Given the description of an element on the screen output the (x, y) to click on. 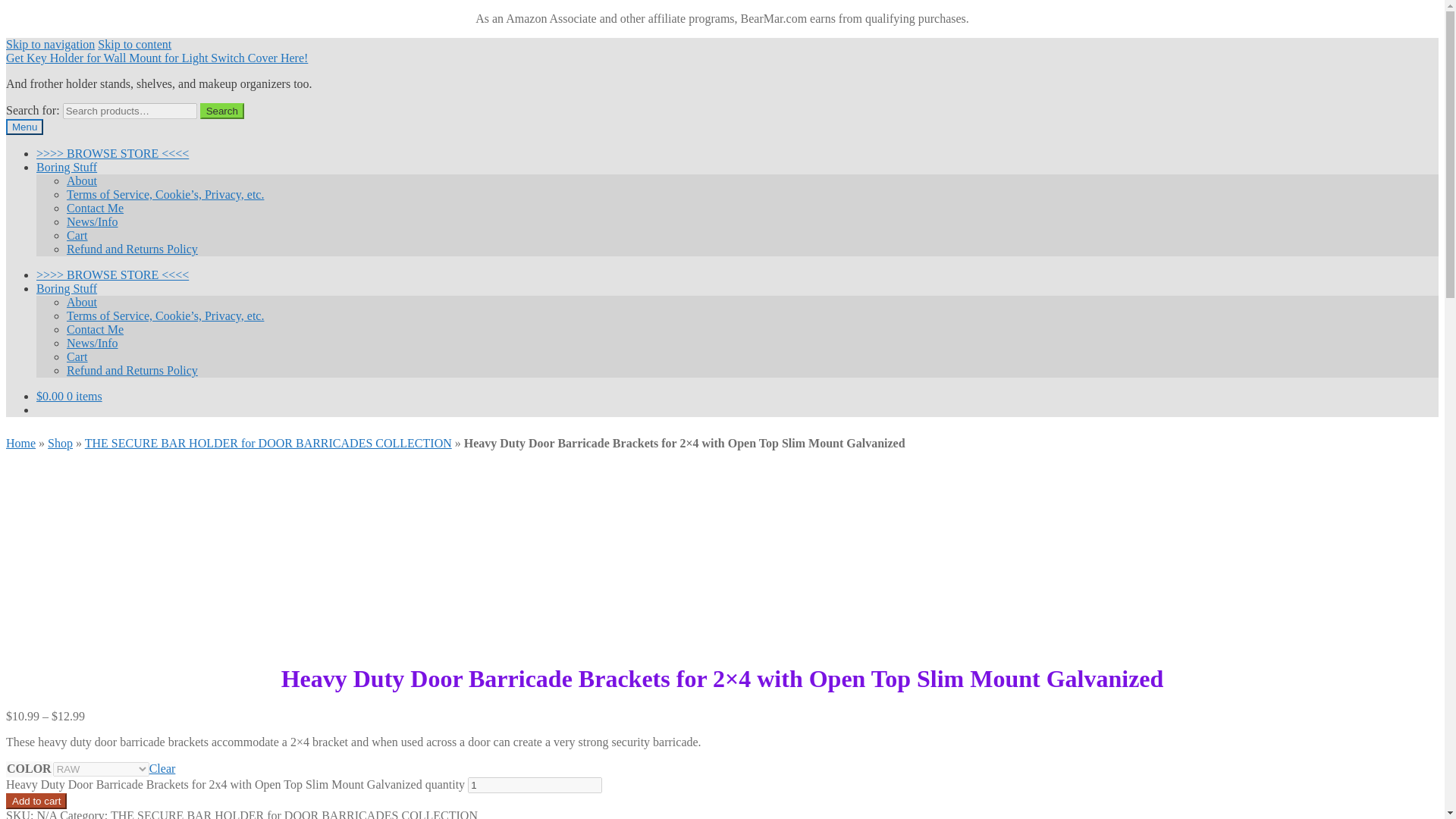
View your shopping cart (68, 395)
Shop (60, 442)
Home (19, 442)
Search (222, 110)
THE SECURE BAR HOLDER for DOOR BARRICADES COLLECTION (267, 442)
Cart (76, 356)
Skip to content (134, 43)
Menu (24, 126)
About (81, 301)
Cart (76, 235)
Get Key Holder for Wall Mount for Light Switch Cover Here! (156, 57)
Boring Stuff (66, 166)
Refund and Returns Policy (132, 369)
Refund and Returns Policy (132, 248)
Contact Me (94, 207)
